Given the description of an element on the screen output the (x, y) to click on. 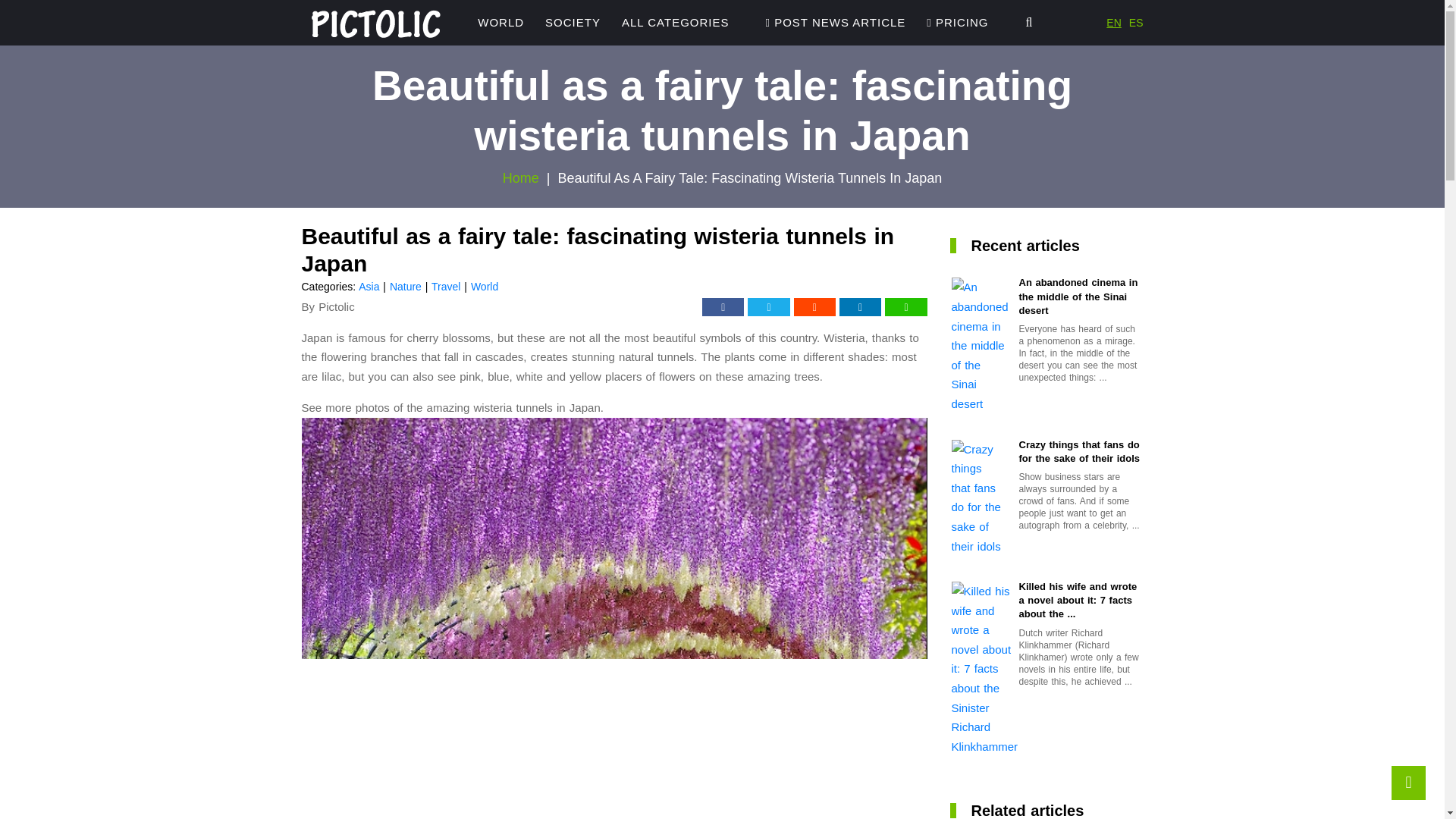
World (500, 22)
Travel (445, 286)
Travel (445, 286)
Asia (368, 286)
Home (520, 177)
Twitter (768, 307)
Reddit (814, 307)
Nature (406, 286)
POST NEWS ARTICLE (836, 22)
